Given the description of an element on the screen output the (x, y) to click on. 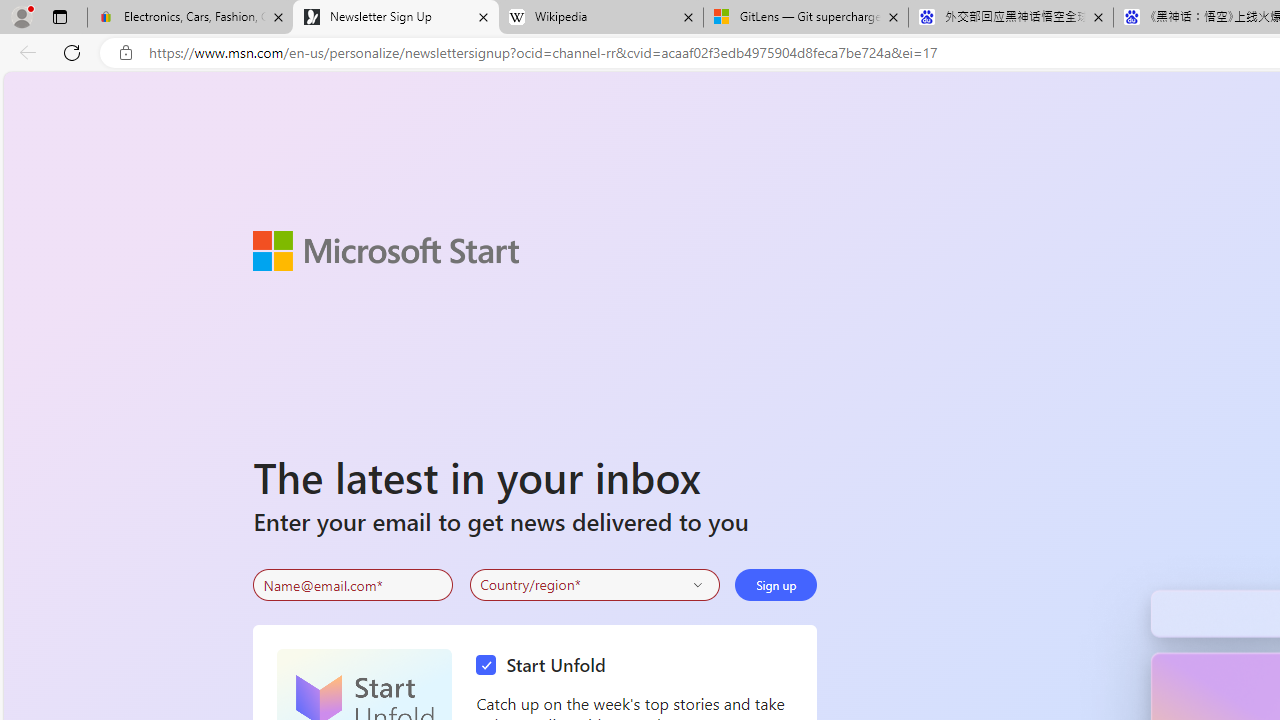
Electronics, Cars, Fashion, Collectibles & More | eBay (190, 17)
Wikipedia (600, 17)
Tab actions menu (59, 16)
Back (24, 52)
Refresh (72, 52)
View site information (125, 53)
Close tab (1098, 16)
Sign up (775, 584)
Select your country (594, 584)
Enter your email (353, 585)
Newsletter Sign Up (395, 17)
Start Unfold (545, 665)
